Given the description of an element on the screen output the (x, y) to click on. 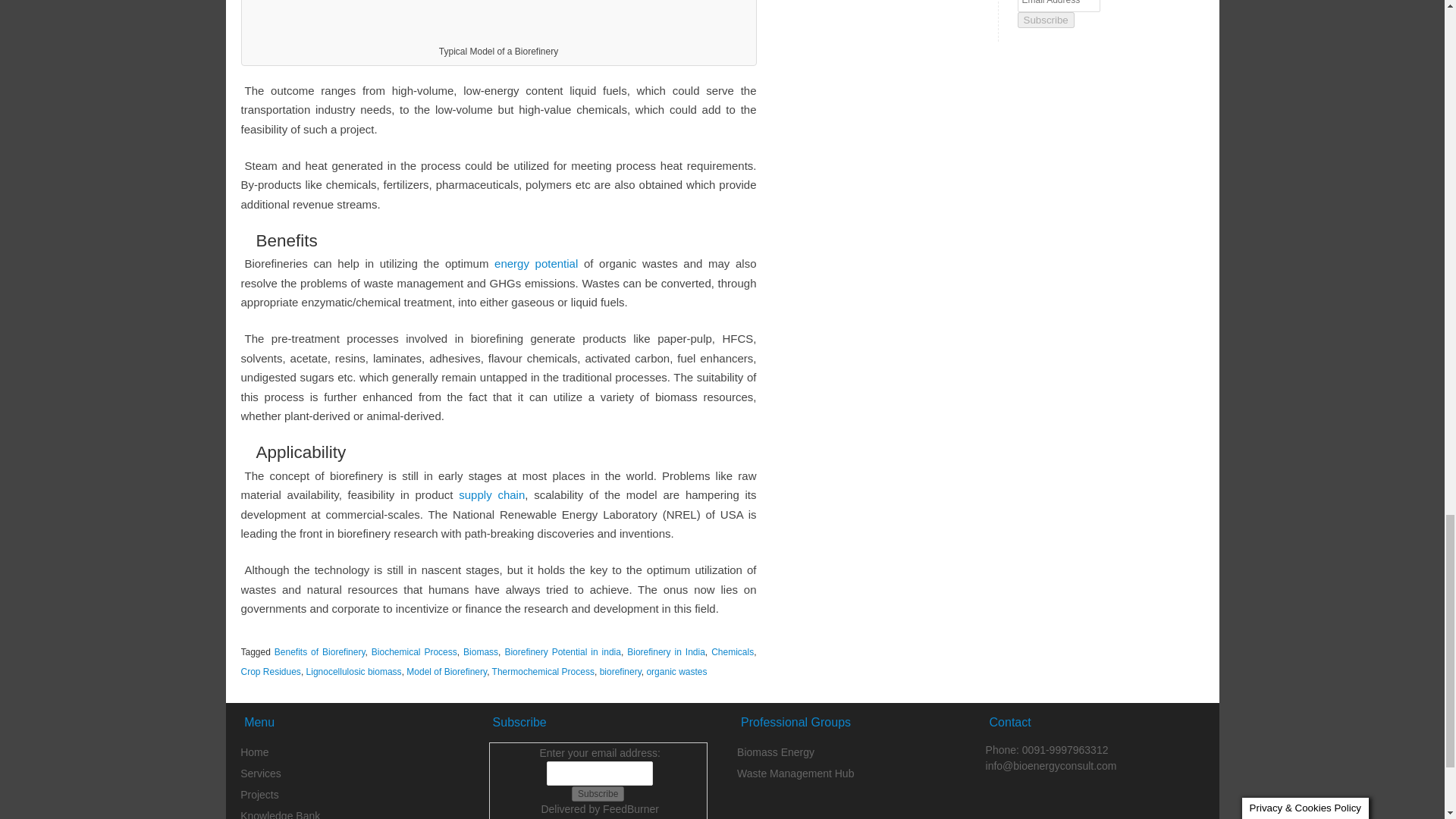
biorefinery (620, 671)
Benefits of Biorefinery (320, 652)
Thermochemical Process (543, 671)
Biochemical Process (414, 652)
Model of Biorefinery (446, 671)
Crop Residues (271, 671)
Lignocellulosic biomass (353, 671)
Biorefinery in India (665, 652)
energy potential (536, 263)
supply chain (491, 494)
Chemicals (732, 652)
organic wastes (676, 671)
Biomass (480, 652)
Biorefinery Potential in india (562, 652)
Subscribe (598, 793)
